Given the description of an element on the screen output the (x, y) to click on. 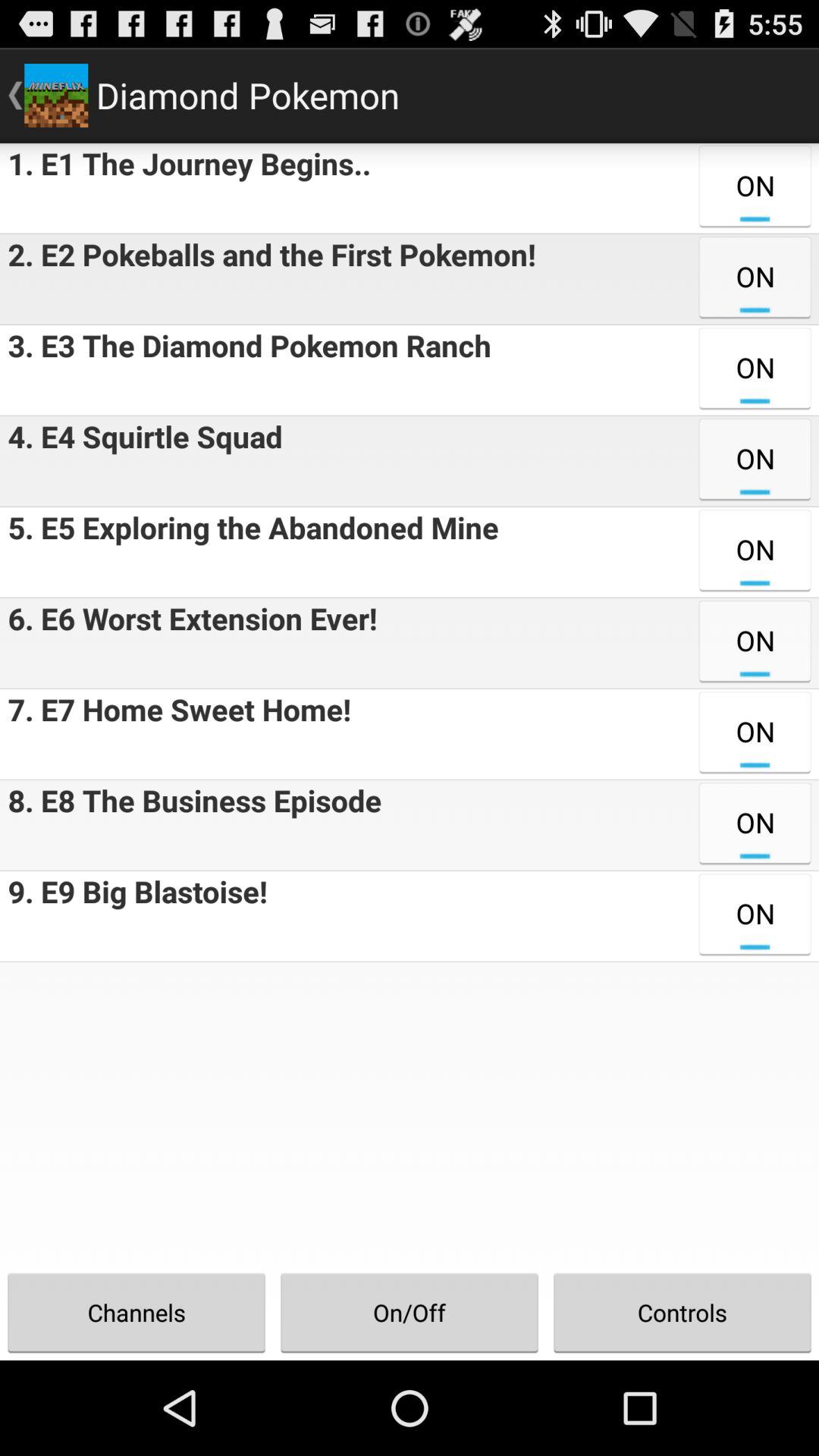
click icon above channels item (133, 916)
